Given the description of an element on the screen output the (x, y) to click on. 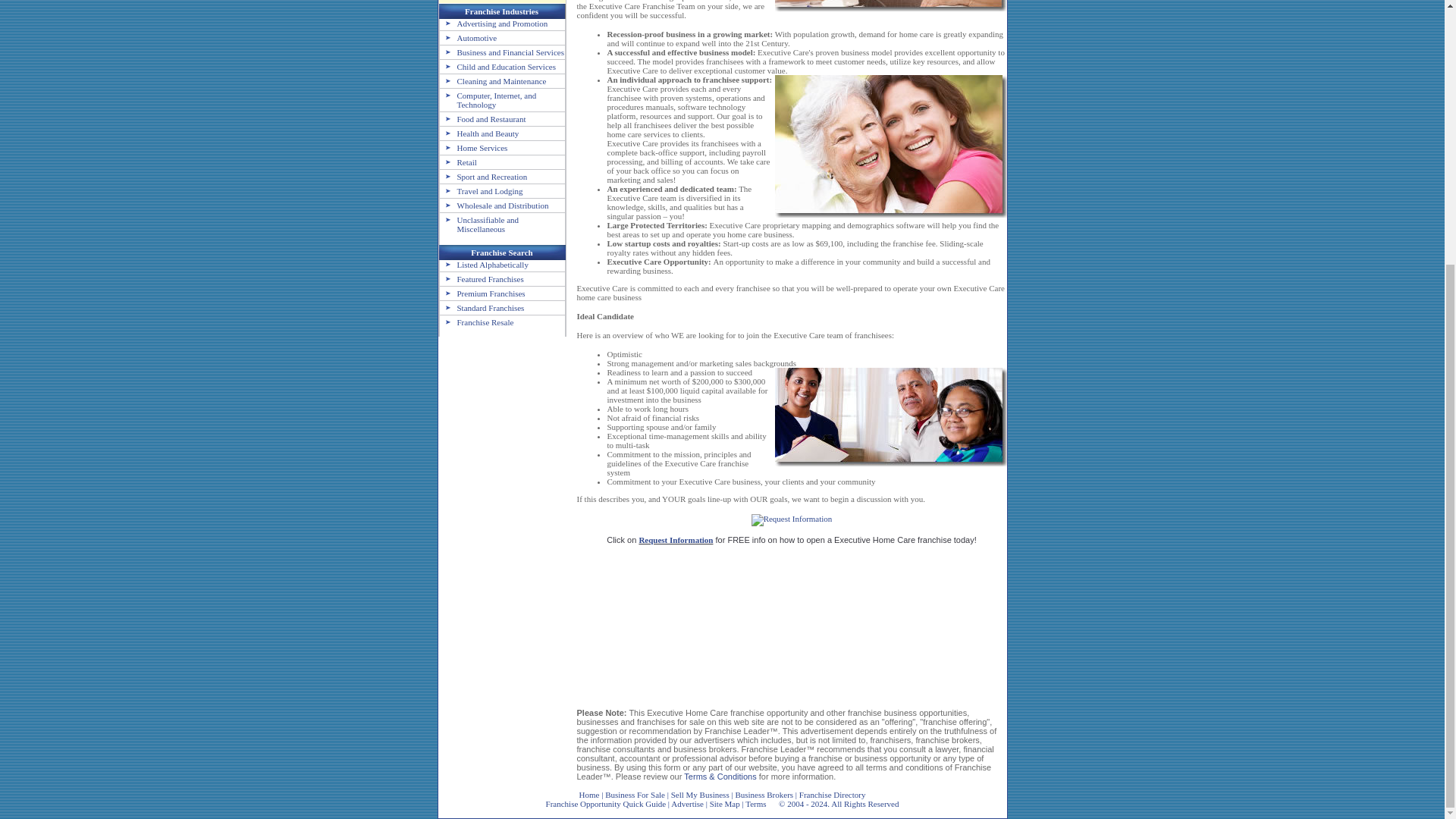
Request Information (676, 539)
Cleaning and Maintenance (493, 80)
Home Services (473, 147)
Automotive (468, 37)
Listed Alphabetically (483, 264)
Retail (458, 162)
Business Brokers (764, 794)
Home (589, 794)
Business and Financial Services (501, 51)
Featured Franchises (481, 278)
